Given the description of an element on the screen output the (x, y) to click on. 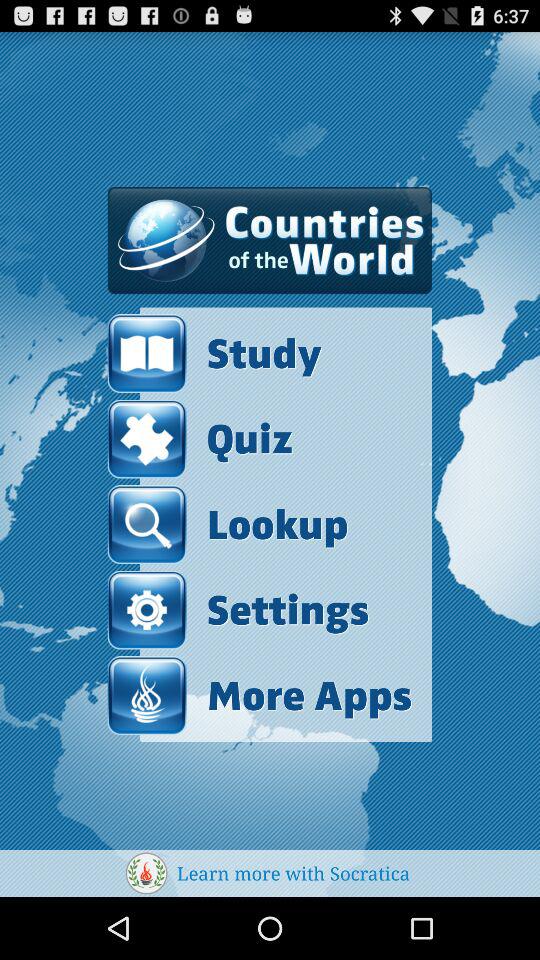
open the lookup item (227, 524)
